Given the description of an element on the screen output the (x, y) to click on. 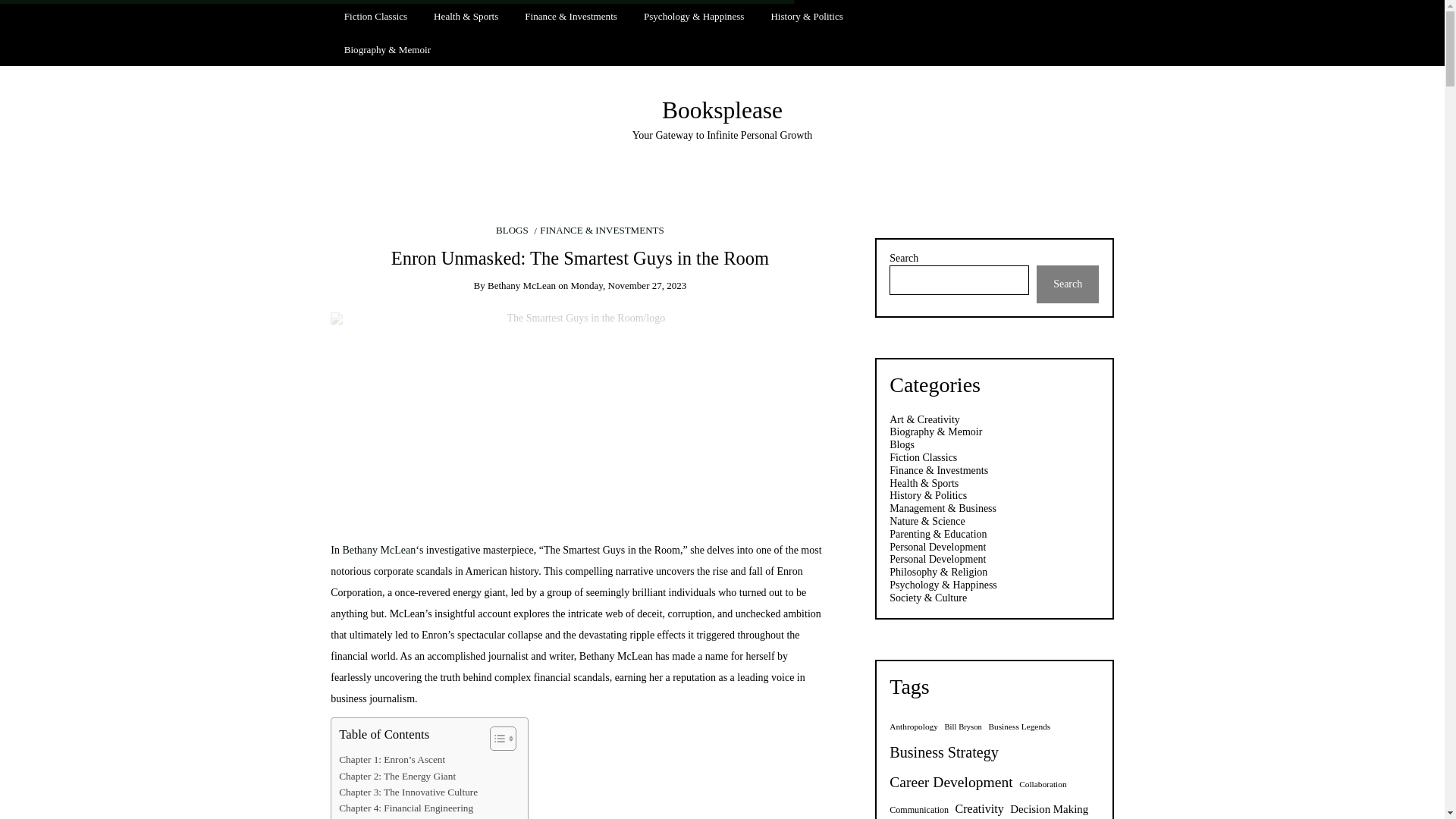
Chapter 5: Dark Side of Success (403, 817)
Chapter 2: The Energy Giant (397, 775)
Chapter 4: Financial Engineering (406, 807)
Posts by Bethany McLean (521, 285)
Chapter 3: The Innovative Culture (408, 791)
Bethany McLean (378, 550)
Chapter 5: Dark Side of Success (403, 817)
Booksplease (722, 110)
Bethany McLean (615, 655)
Chapter 4: Financial Engineering (406, 807)
Bethany McLean (615, 655)
Chapter 2: The Energy Giant (397, 775)
Fiction Classics (375, 16)
Chapter 3: The Innovative Culture (408, 791)
